Given the description of an element on the screen output the (x, y) to click on. 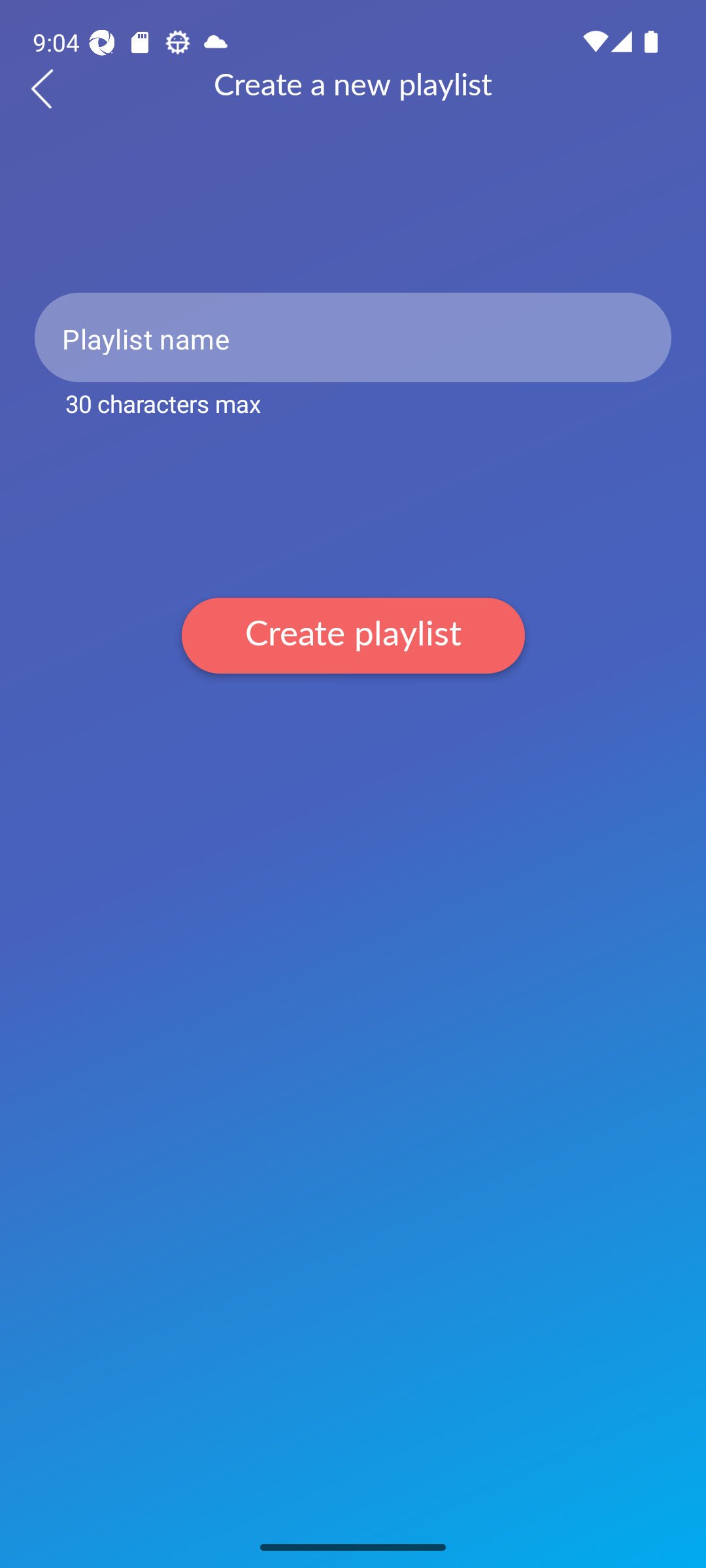
Playlist name (352, 337)
Create playlist (353, 634)
